Given the description of an element on the screen output the (x, y) to click on. 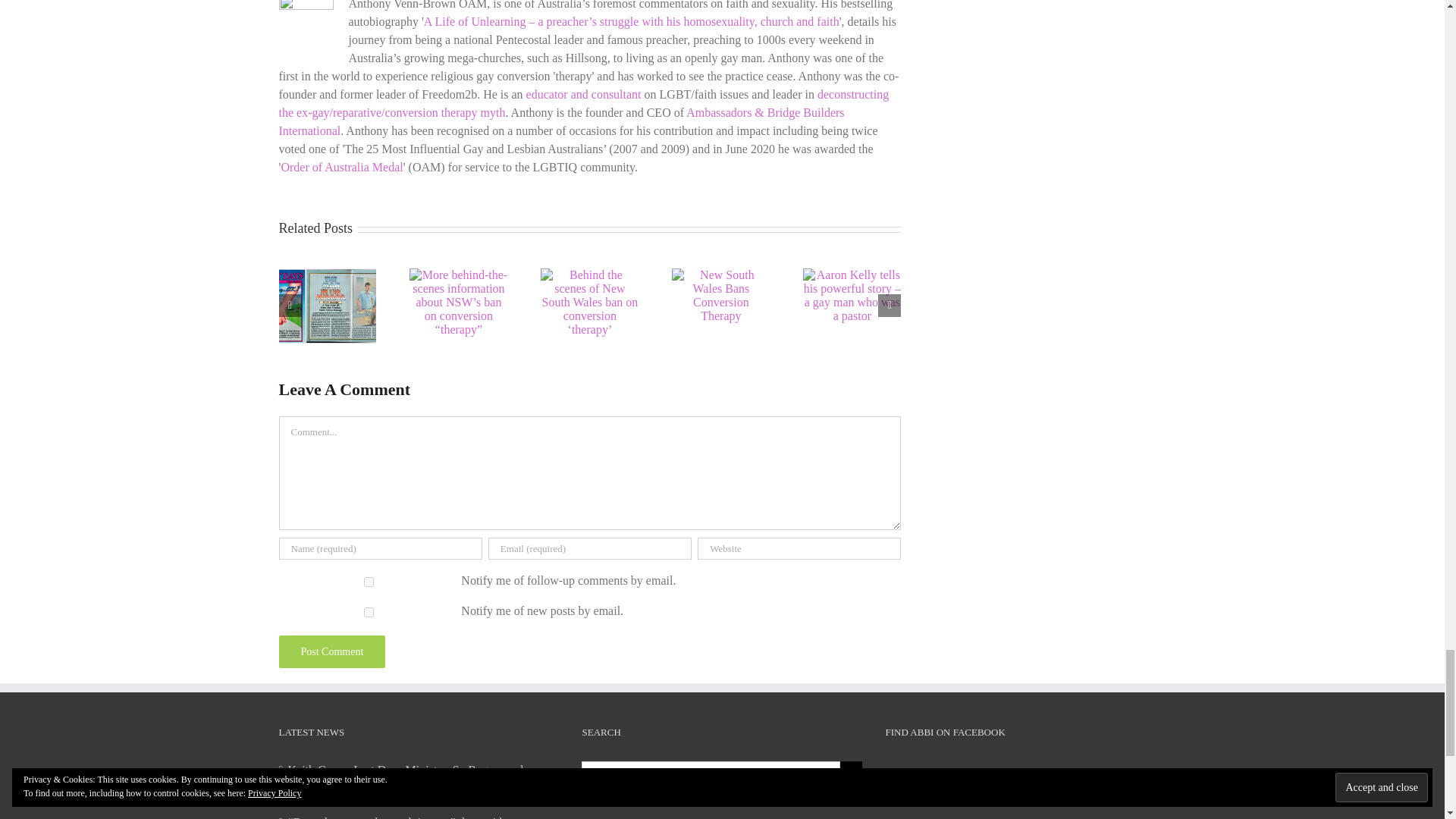
subscribe (369, 582)
Post Comment (332, 651)
subscribe (369, 612)
